Given the description of an element on the screen output the (x, y) to click on. 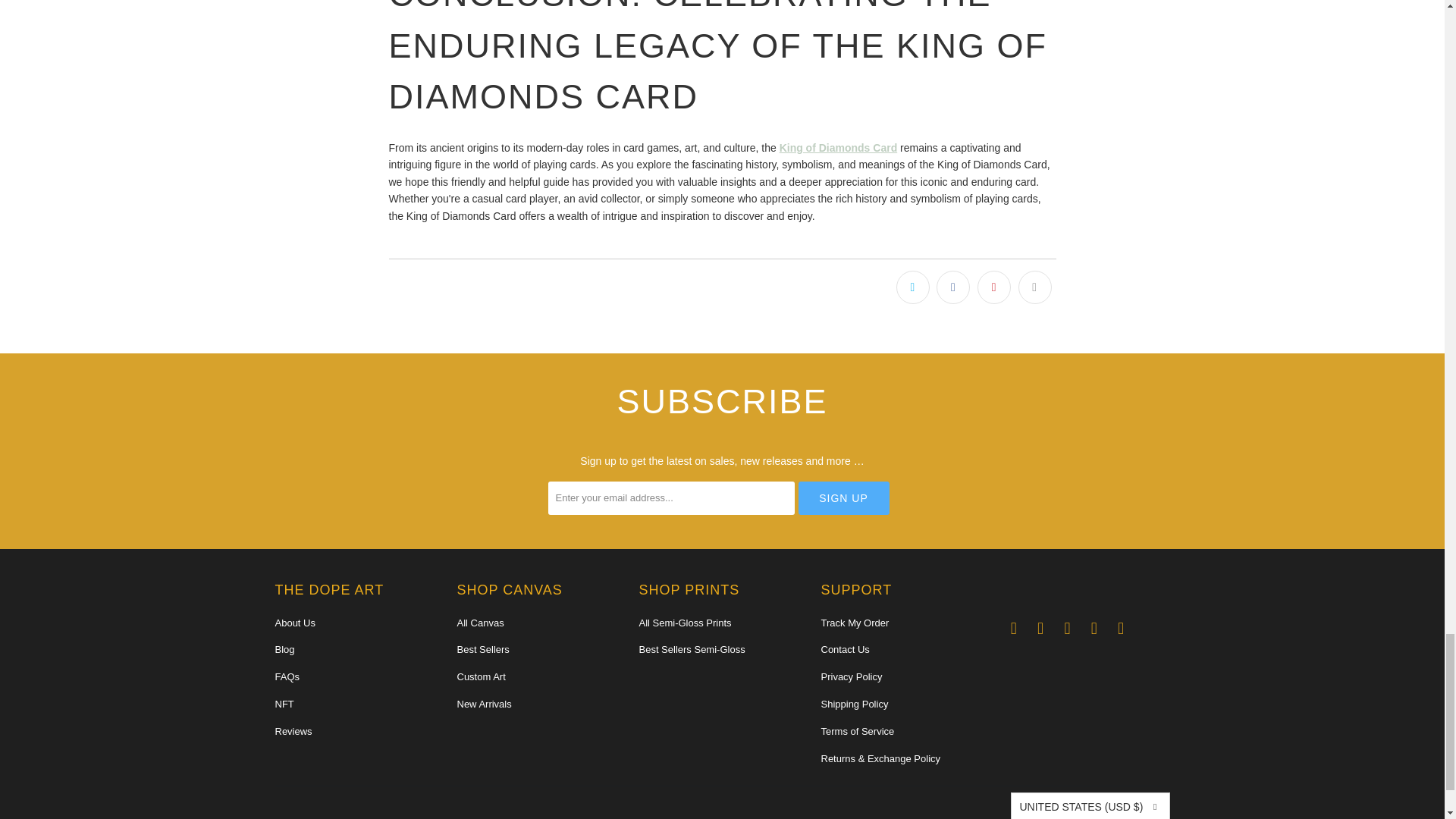
Email this to a friend (1034, 287)
Thedopeart on Pinterest (1094, 628)
Thedopeart on Twitter (1120, 628)
Thedopeart on Instagram (1067, 628)
Share this on Twitter (913, 287)
Sign Up (842, 498)
Share this on Facebook (952, 287)
Share this on Pinterest (993, 287)
Email Thedopeart (1014, 628)
Thedopeart on Facebook (1040, 628)
